Given the description of an element on the screen output the (x, y) to click on. 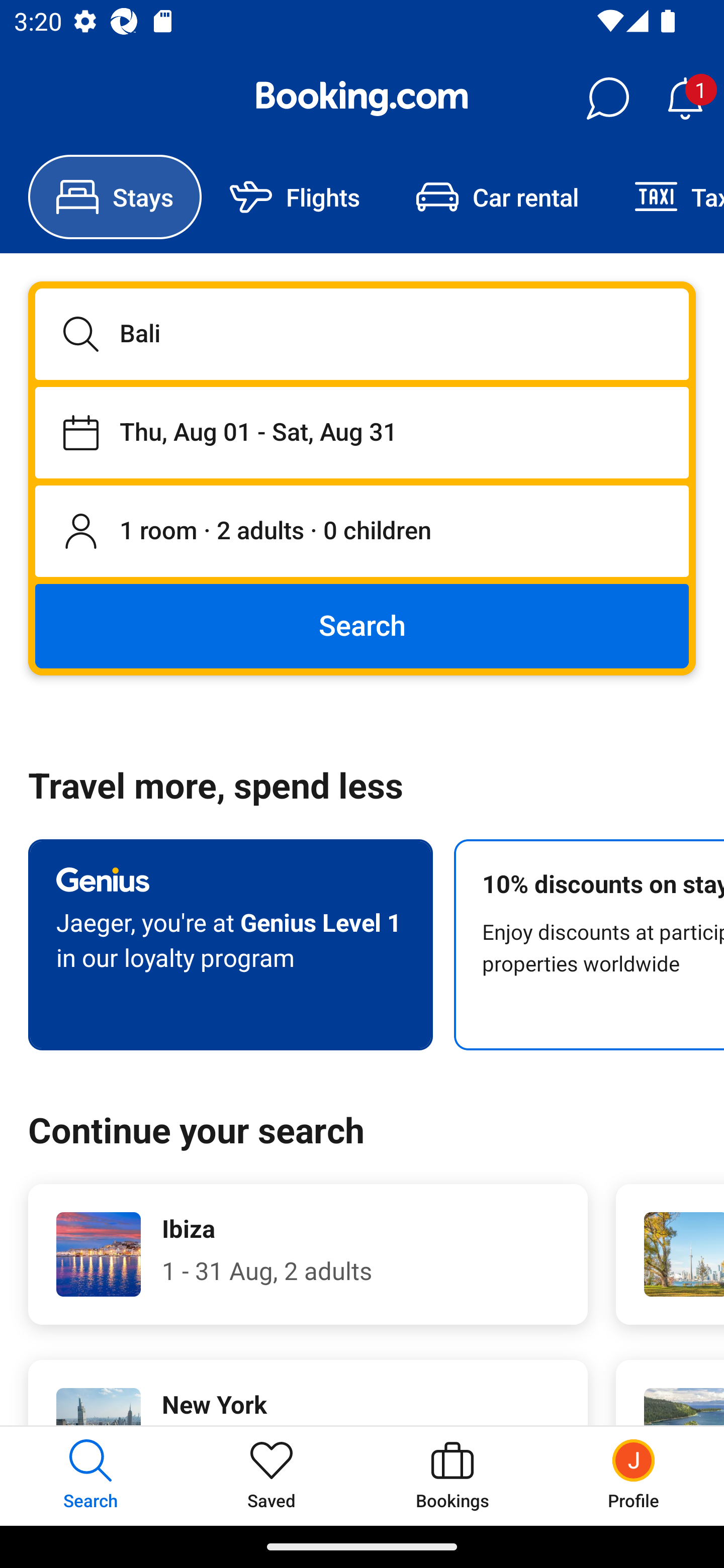
Messages (607, 98)
Notifications (685, 98)
Stays (114, 197)
Flights (294, 197)
Car rental (497, 197)
Taxi (665, 197)
Bali (361, 333)
Staying from Thu, Aug 01 until Sat, Aug 31 (361, 432)
1 room, 2 adults, 0 children (361, 531)
Search (361, 625)
Ibiza 1 - 31 Aug, 2 adults (307, 1253)
Saved (271, 1475)
Bookings (452, 1475)
Profile (633, 1475)
